Given the description of an element on the screen output the (x, y) to click on. 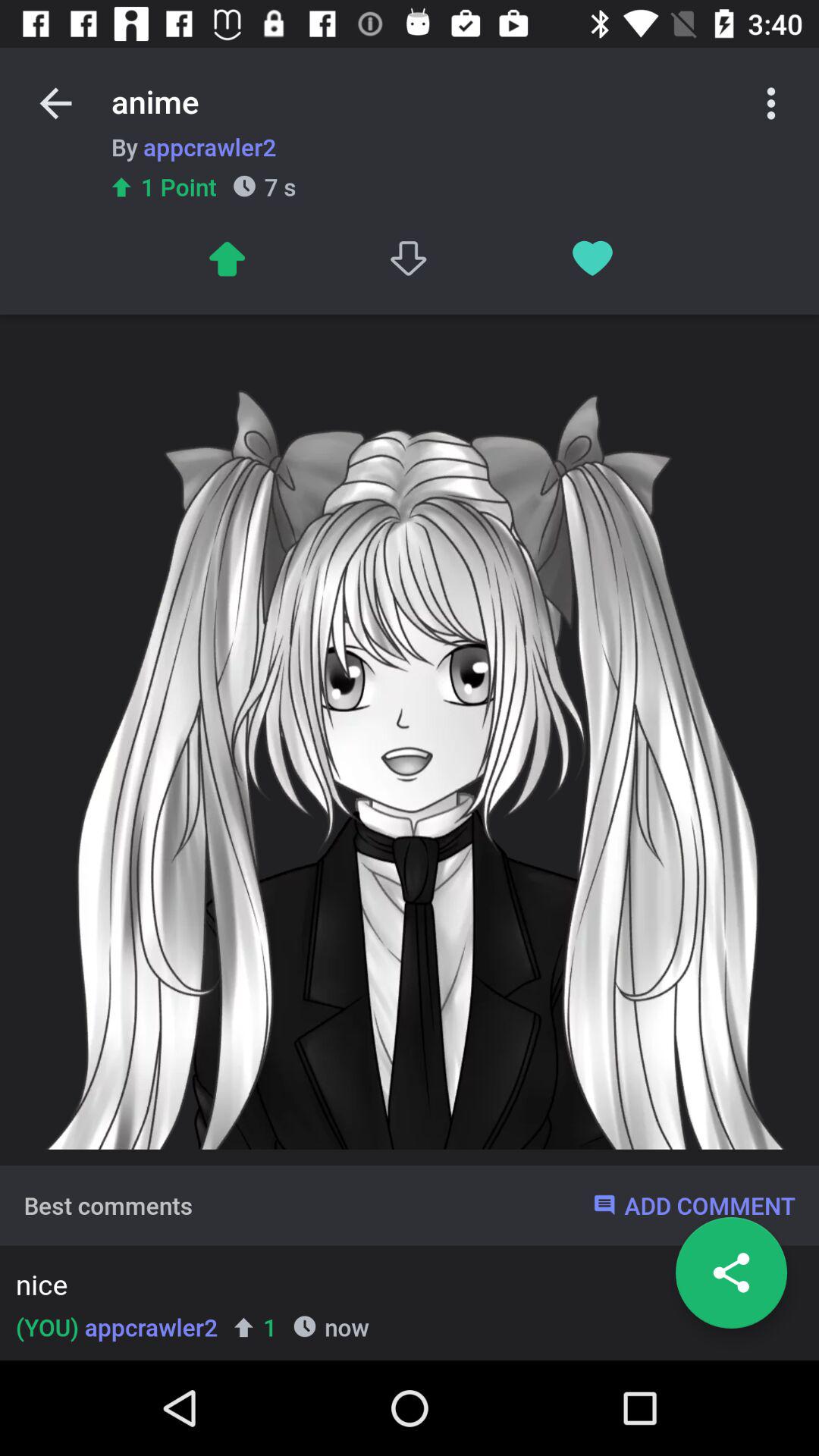
select to up arrow (226, 258)
